Given the description of an element on the screen output the (x, y) to click on. 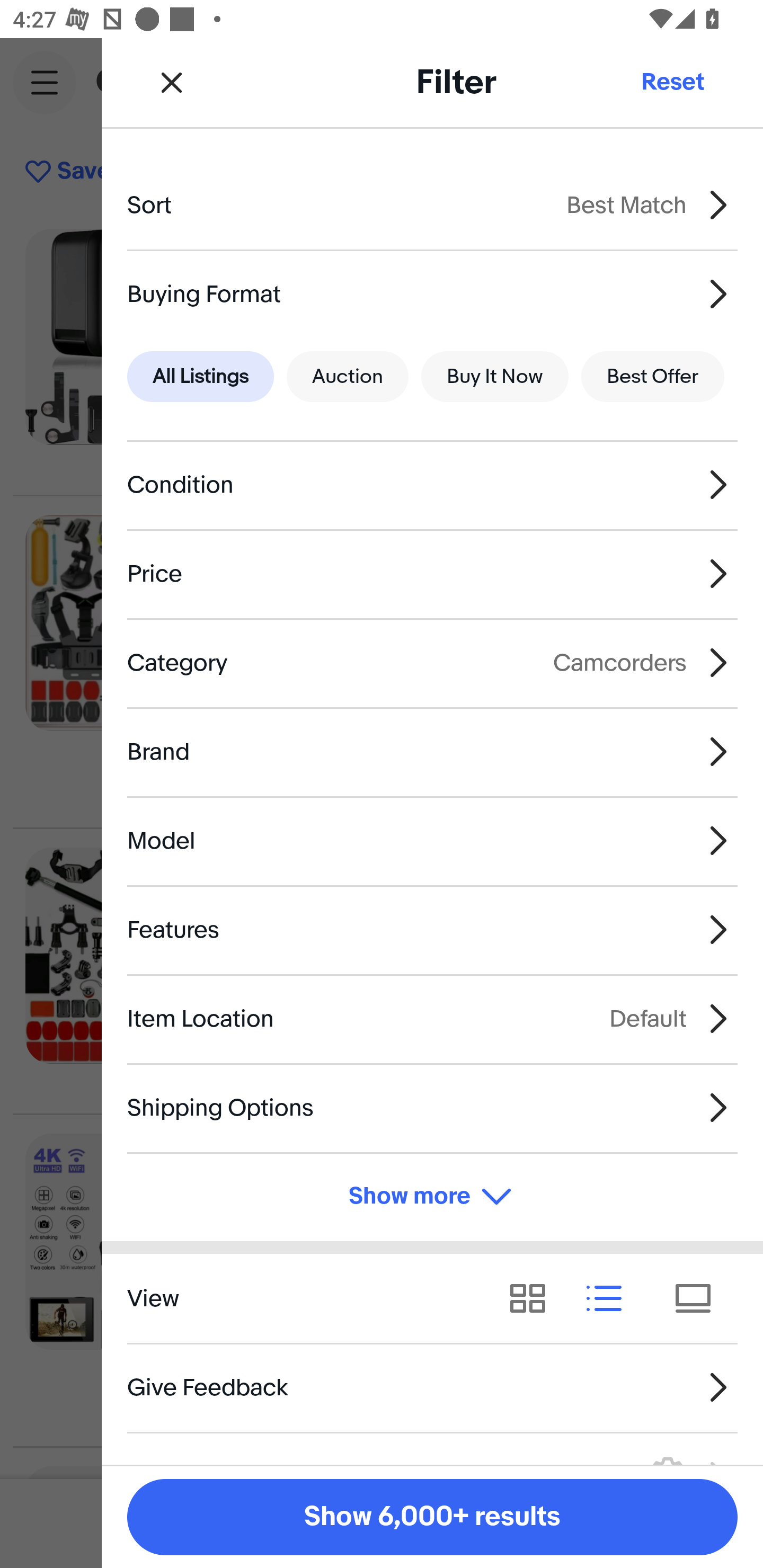
Close Filter (171, 81)
Reset (672, 81)
Buying Format (432, 293)
All Listings (200, 376)
Auction (347, 376)
Buy It Now (494, 376)
Best Offer (652, 376)
Condition (432, 484)
Price (432, 573)
Category Camcorders (432, 662)
Brand (432, 751)
Model (432, 840)
Features (432, 929)
Item Location Default (432, 1018)
Shipping Options (432, 1107)
Show more (432, 1196)
View results as grid (533, 1297)
View results as list (610, 1297)
View results as tiles (699, 1297)
Show 6,000+ results (432, 1516)
